Given the description of an element on the screen output the (x, y) to click on. 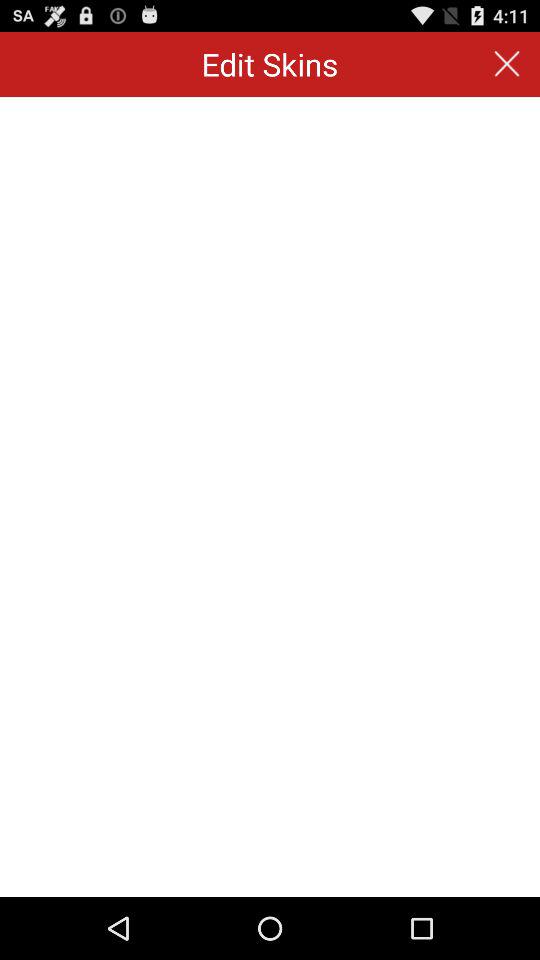
turn off icon at the center (270, 496)
